Given the description of an element on the screen output the (x, y) to click on. 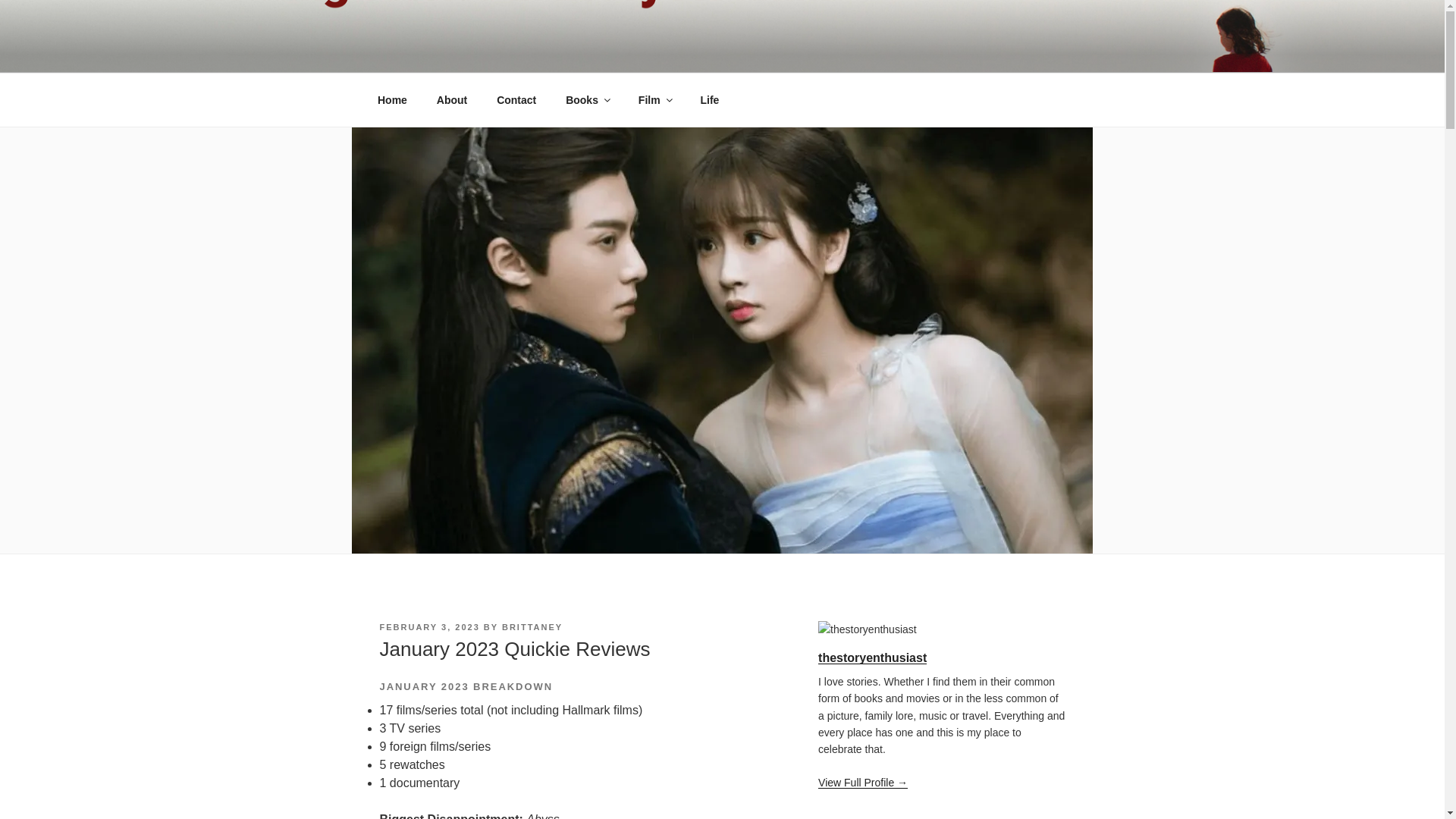
FEBRUARY 3, 2023 (428, 626)
About (451, 99)
Life (709, 99)
THE STORY ENTHUSIAST (568, 52)
Film (654, 99)
Books (588, 99)
BRITTANEY (532, 626)
Home (392, 99)
Contact (516, 99)
